Given the description of an element on the screen output the (x, y) to click on. 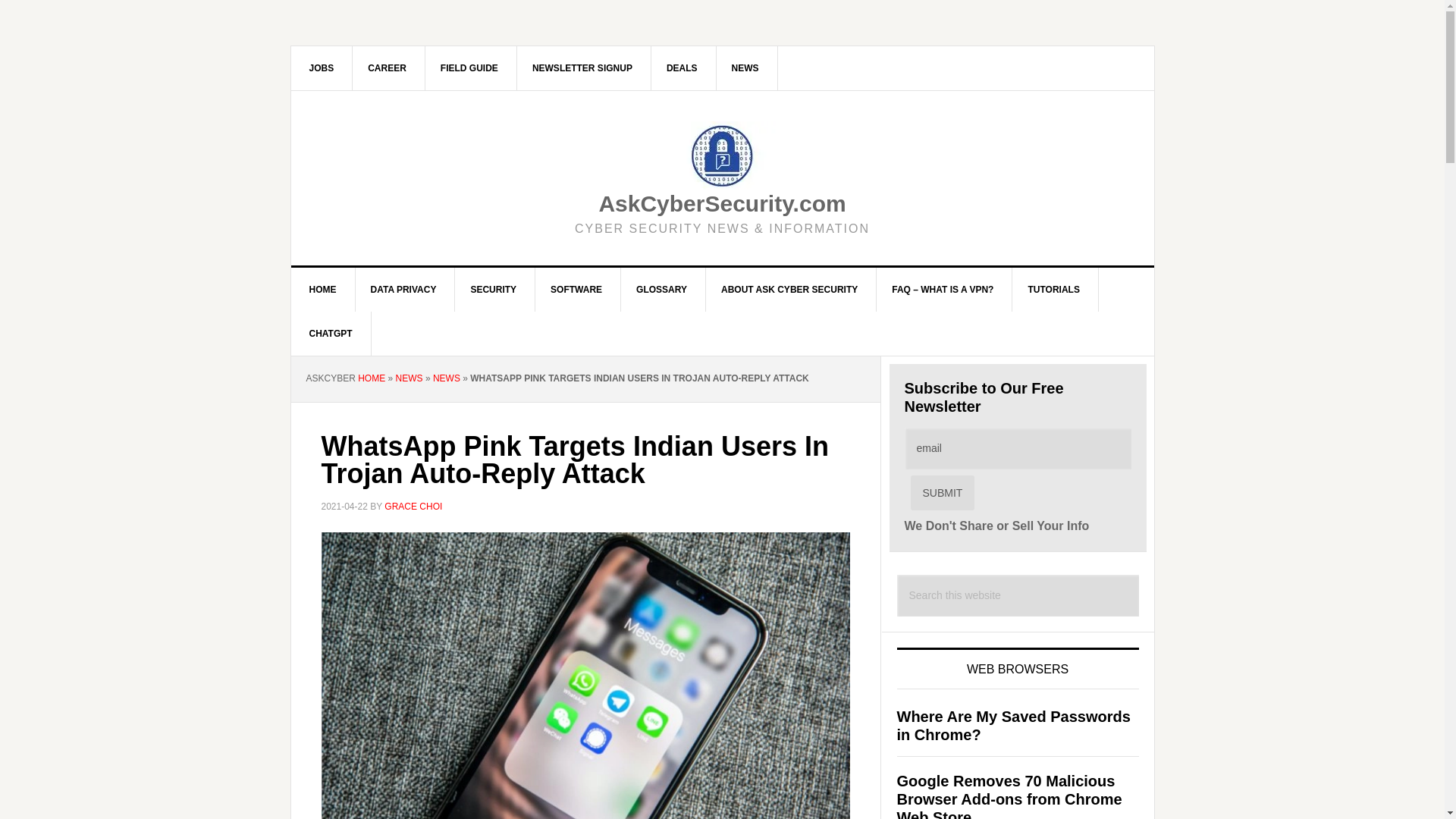
Career (387, 67)
DATA PRIVACY (403, 289)
Submit (942, 492)
SECURITY (493, 289)
SOFTWARE (576, 289)
What is Cyber Security? (493, 289)
JOBS (322, 67)
Computer Security While Traveling (469, 67)
GLOSSARY (661, 289)
